Given the description of an element on the screen output the (x, y) to click on. 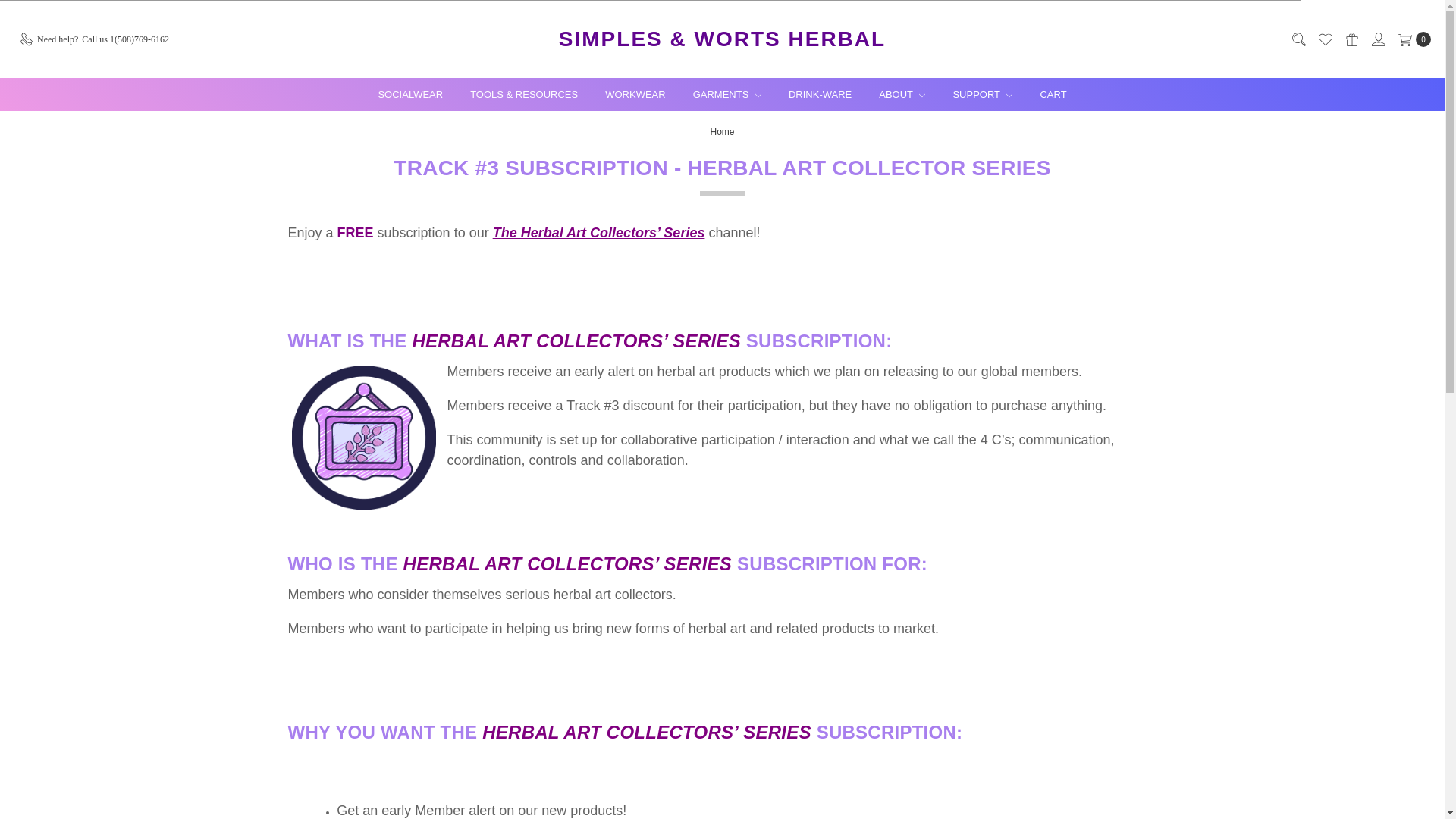
WORKWEAR (634, 94)
SUPPORT (982, 94)
0 (1411, 39)
CART (1053, 94)
planter-7216328.png (366, 437)
ABOUT (901, 94)
SOCIALWEAR (410, 94)
GARMENTS (726, 94)
DRINK-WARE (819, 94)
Home (721, 131)
